Given the description of an element on the screen output the (x, y) to click on. 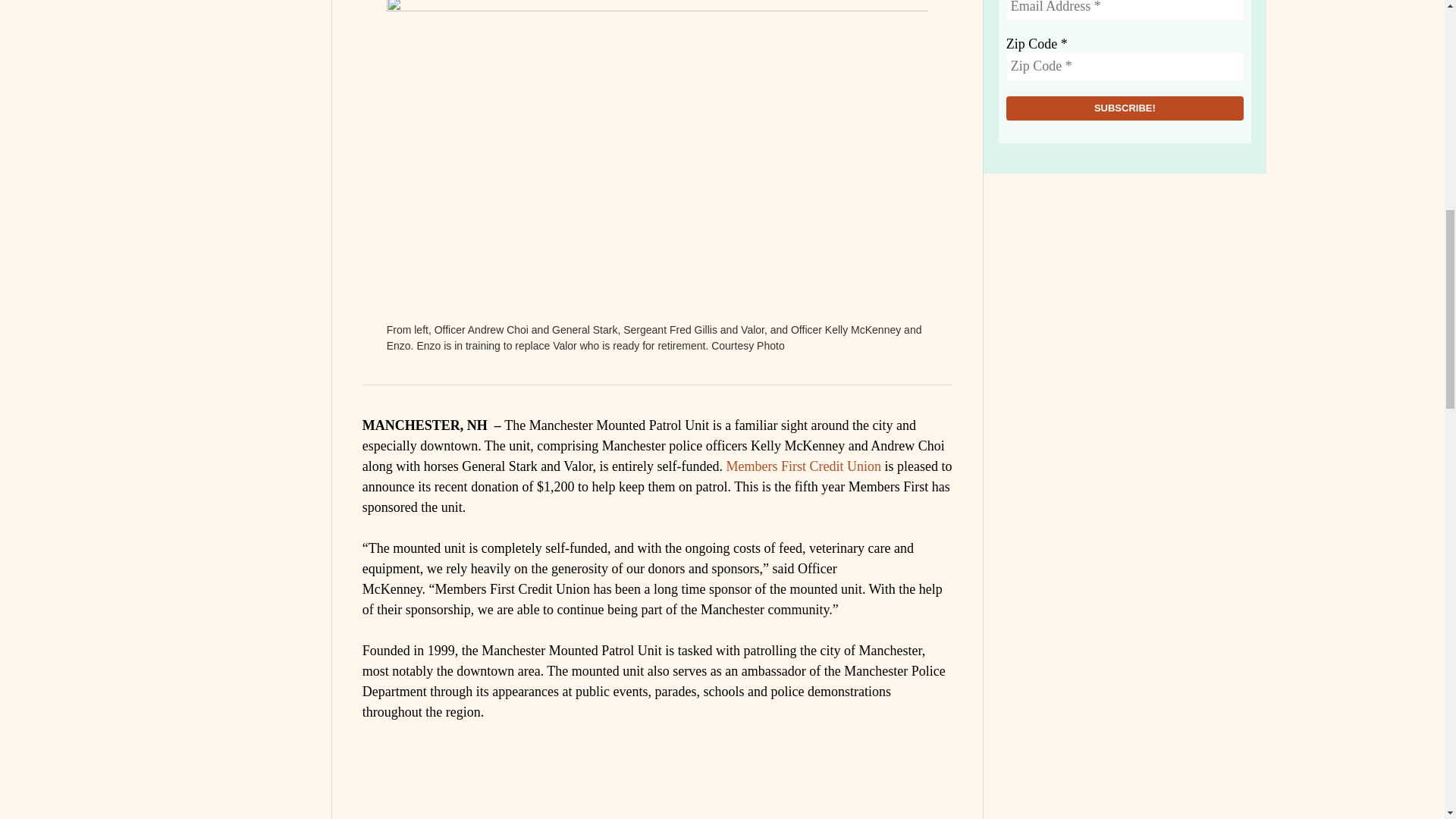
Zip Code (1124, 66)
Subscribe! (1124, 108)
Email Address (1124, 10)
